Given the description of an element on the screen output the (x, y) to click on. 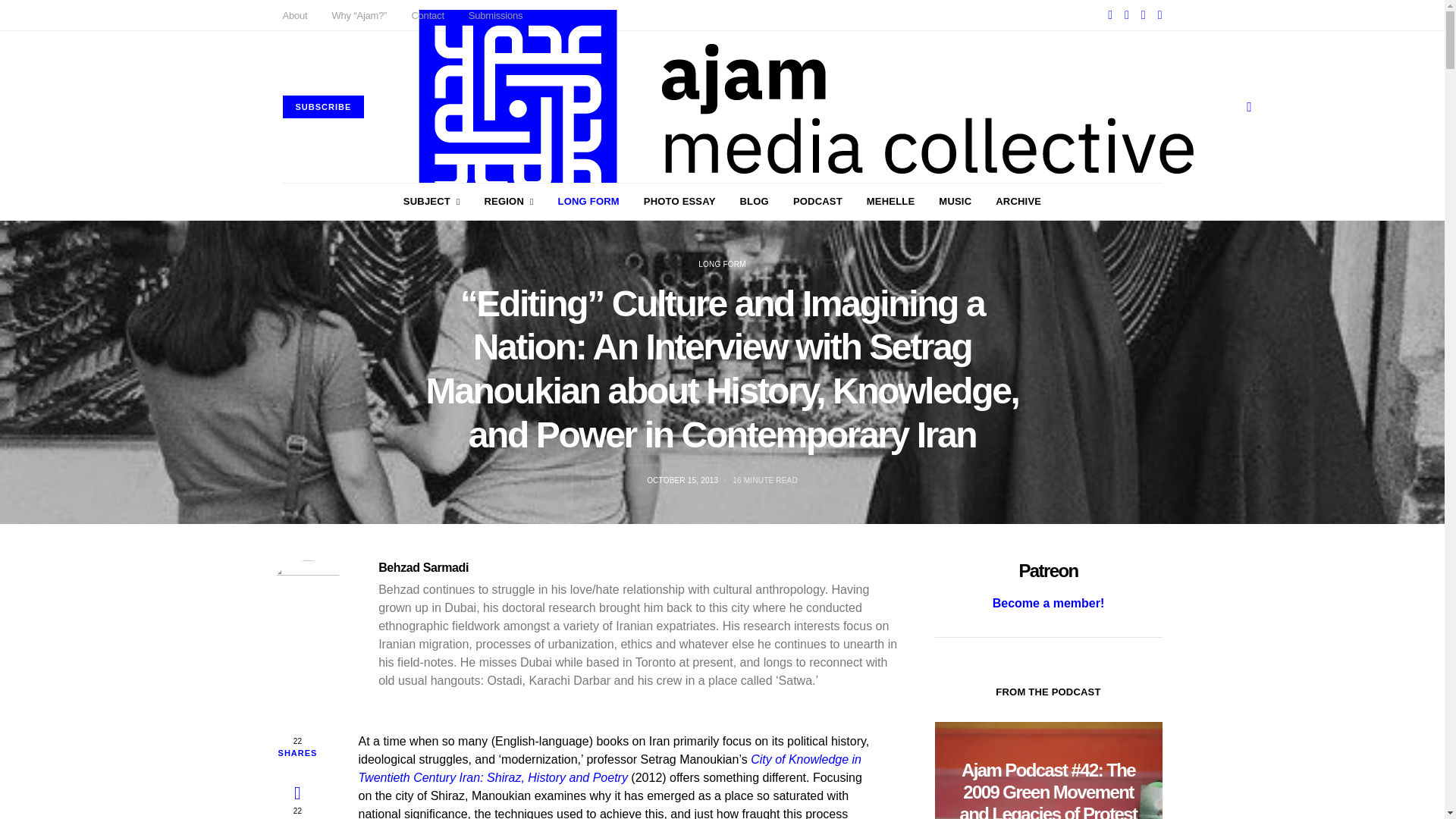
About (294, 15)
